Given the description of an element on the screen output the (x, y) to click on. 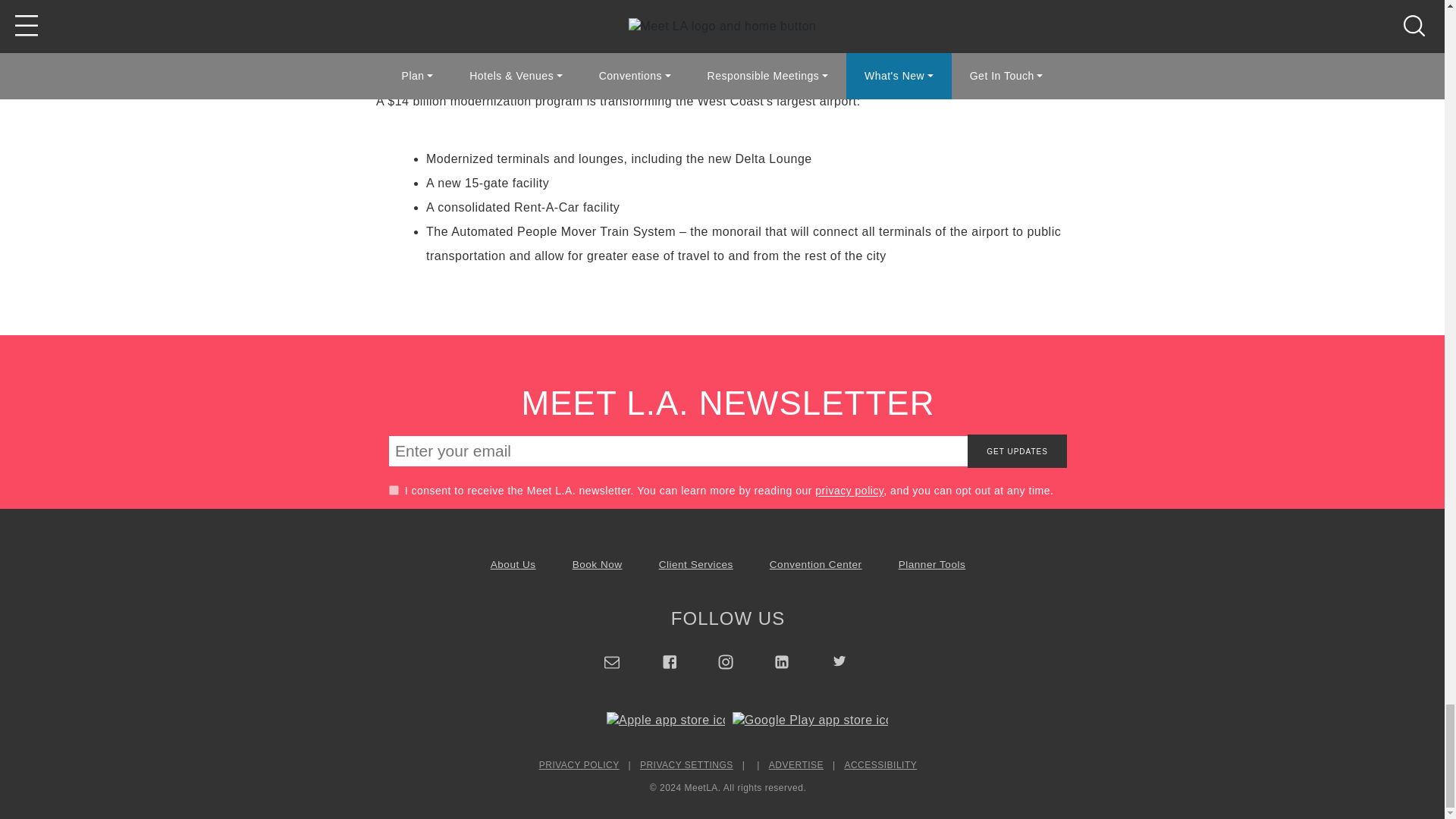
1 (393, 490)
Get Updates (1017, 450)
